Given the description of an element on the screen output the (x, y) to click on. 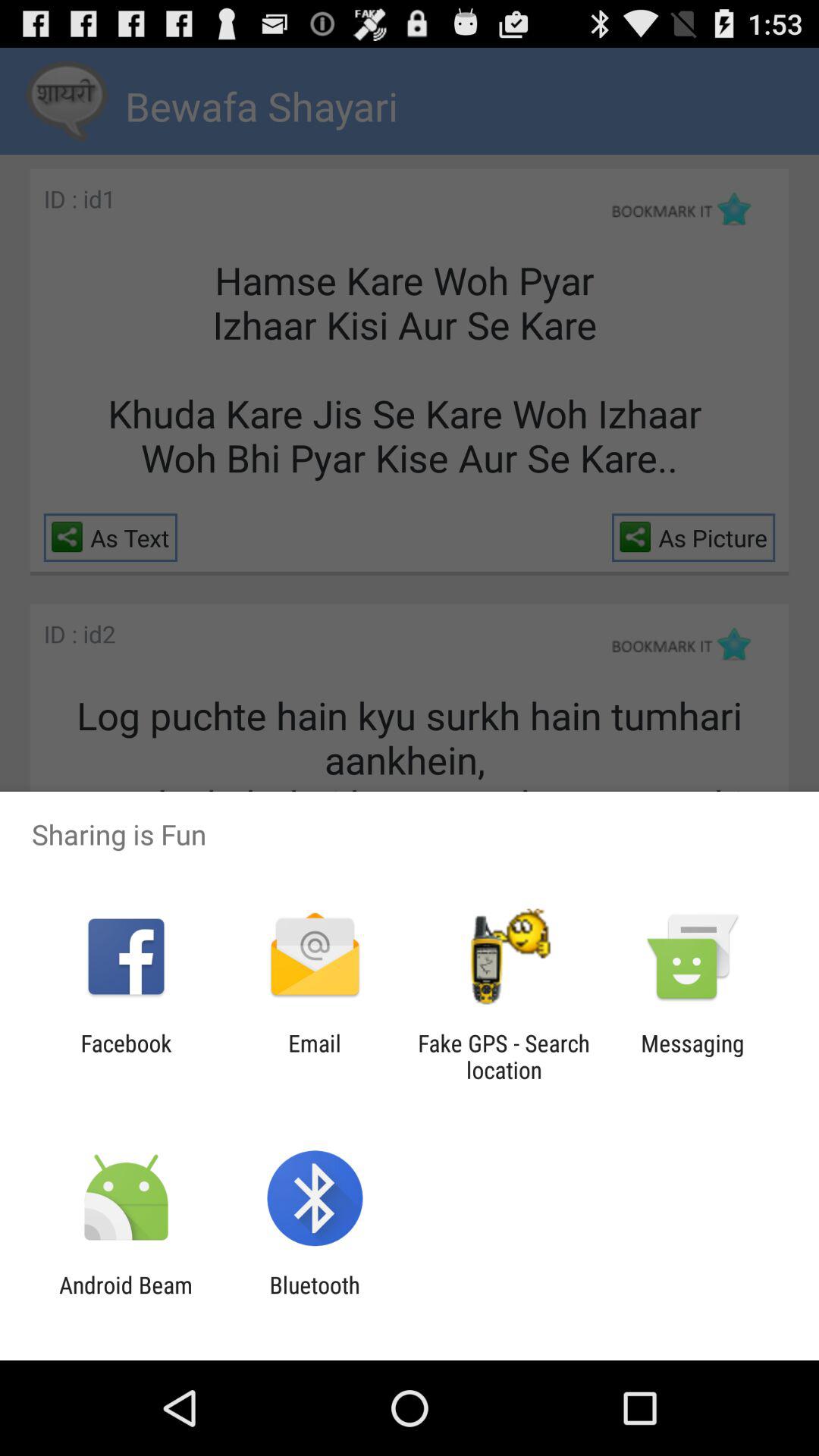
click icon next to bluetooth (125, 1298)
